Given the description of an element on the screen output the (x, y) to click on. 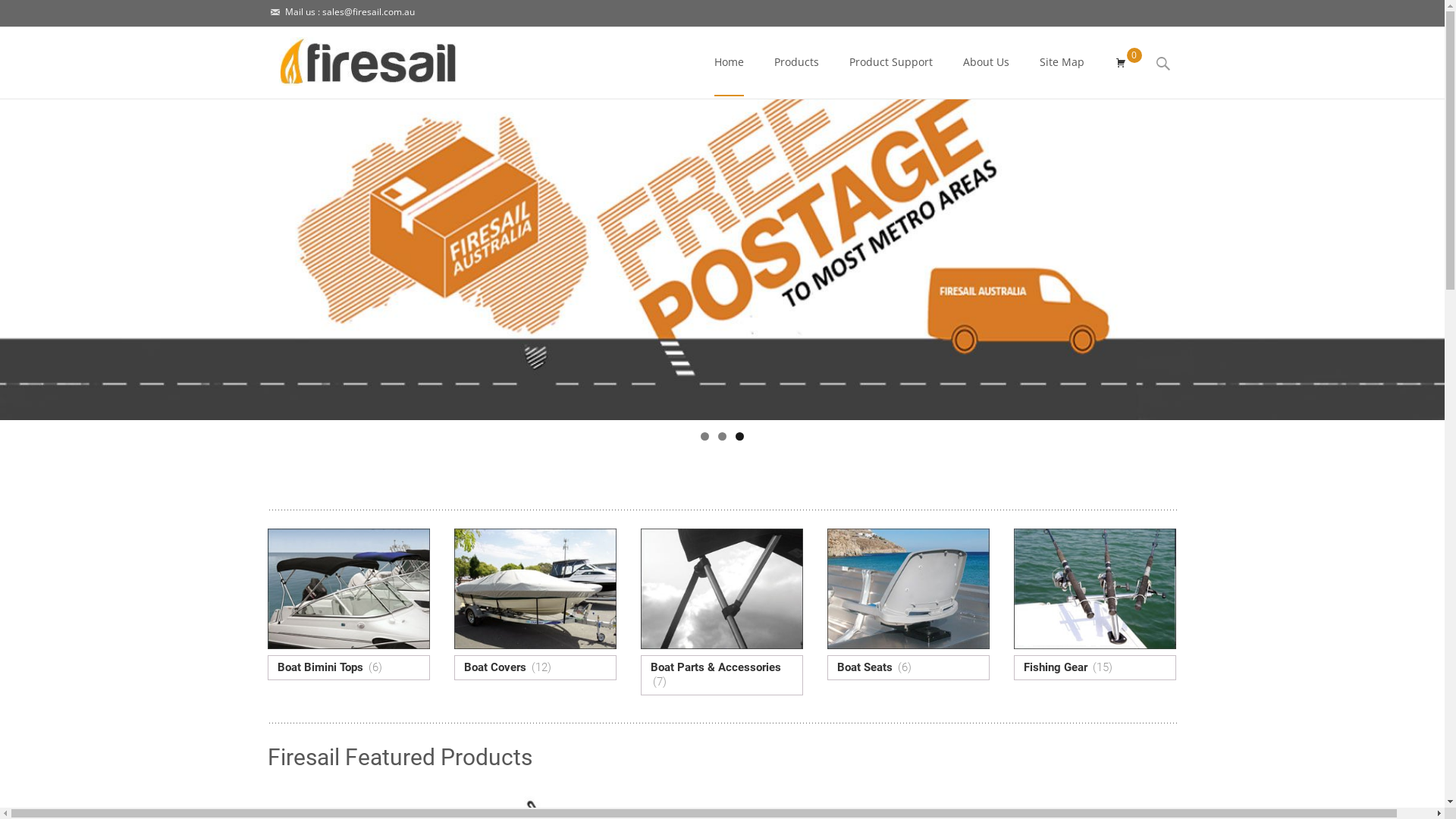
Home Element type: text (728, 62)
Boat Parts & Accessories (7) Element type: text (721, 611)
Boat Seats (6) Element type: text (907, 604)
0 Element type: text (1120, 62)
Search Element type: text (18, 15)
Site Map Element type: text (1060, 62)
1 Element type: text (704, 436)
Products Element type: text (795, 62)
Fishing Gear (15) Element type: text (1094, 604)
Firesail Australia Element type: hover (355, 57)
Boat Covers (12) Element type: text (534, 604)
2 Element type: text (722, 436)
Search for: Element type: hover (1163, 64)
Boat Bimini Tops (6) Element type: text (347, 604)
Skip to content Element type: text (697, 27)
About Us Element type: text (986, 62)
3 Element type: text (739, 436)
Product Support Element type: text (890, 62)
